Given the description of an element on the screen output the (x, y) to click on. 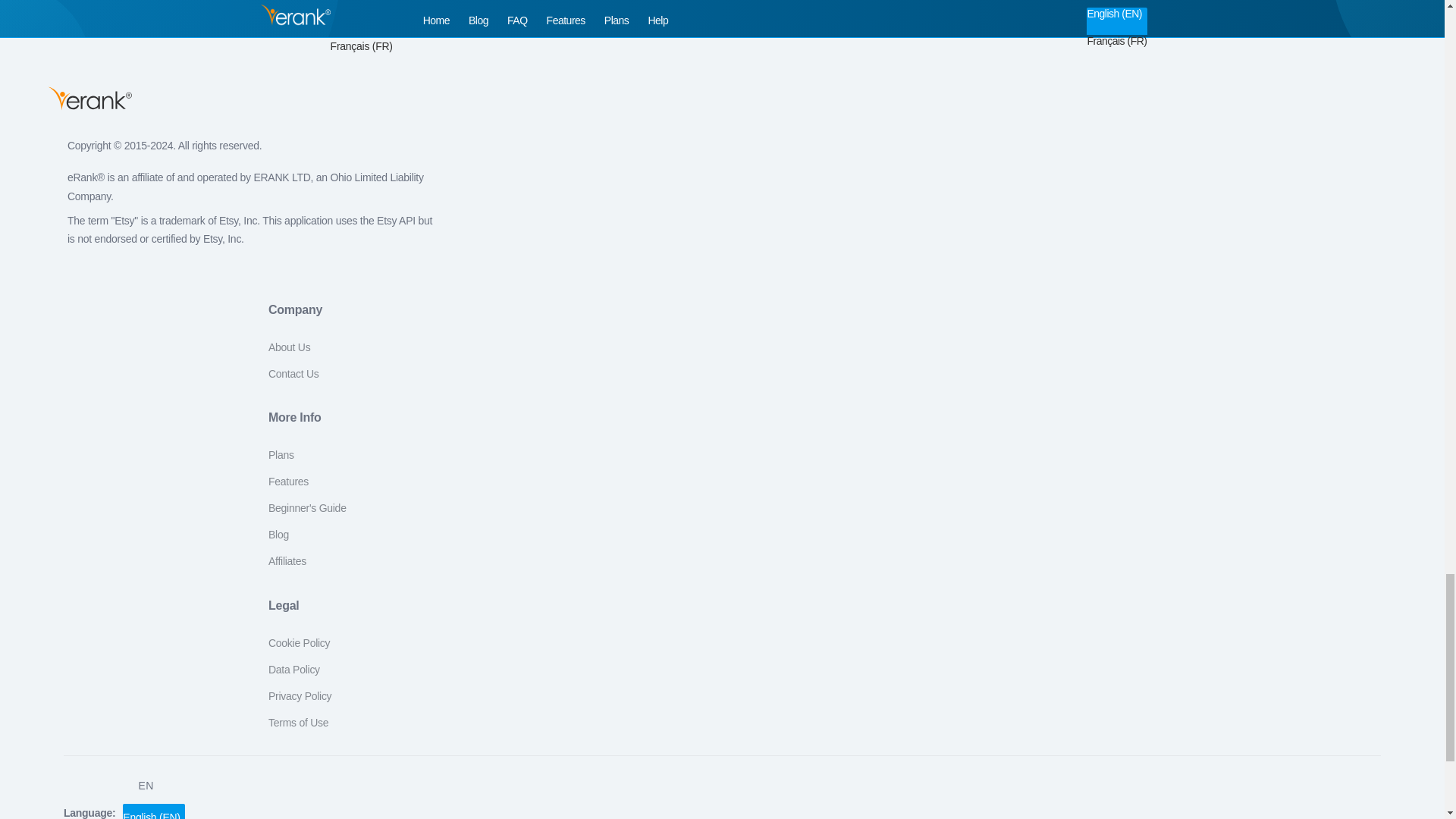
Affiliates (286, 561)
Features (287, 481)
Contact Us (292, 373)
EN (145, 785)
Blog (277, 534)
Beginner's Guide (306, 508)
Privacy Policy (299, 695)
About Us (288, 346)
Terms of Use (298, 722)
Cookie Policy (298, 643)
Data Policy (293, 669)
Plans (280, 454)
